Given the description of an element on the screen output the (x, y) to click on. 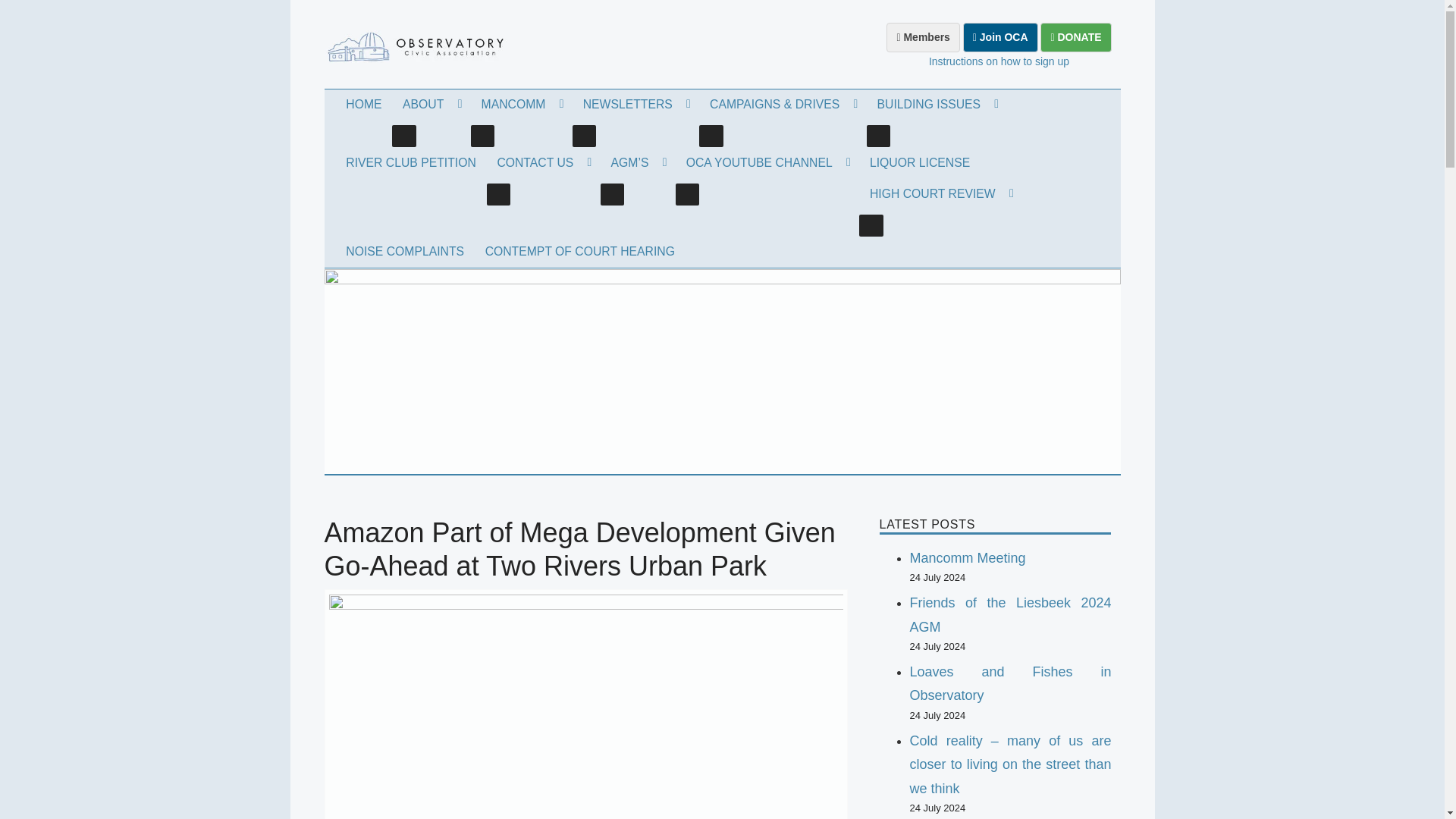
Join OCA (1000, 37)
EXPAND CHILD MENU (710, 136)
HOME (362, 104)
ABOUT (430, 104)
MANCOMM (521, 104)
EXPAND CHILD MENU (403, 136)
Members (922, 37)
NEWSLETTERS (635, 104)
Instructions on how to sign up (998, 60)
EXPAND CHILD MENU (482, 136)
DONATE (1075, 37)
OBSERVATORY CIVIC ASSOCIATION (436, 121)
EXPAND CHILD MENU (584, 136)
